Given the description of an element on the screen output the (x, y) to click on. 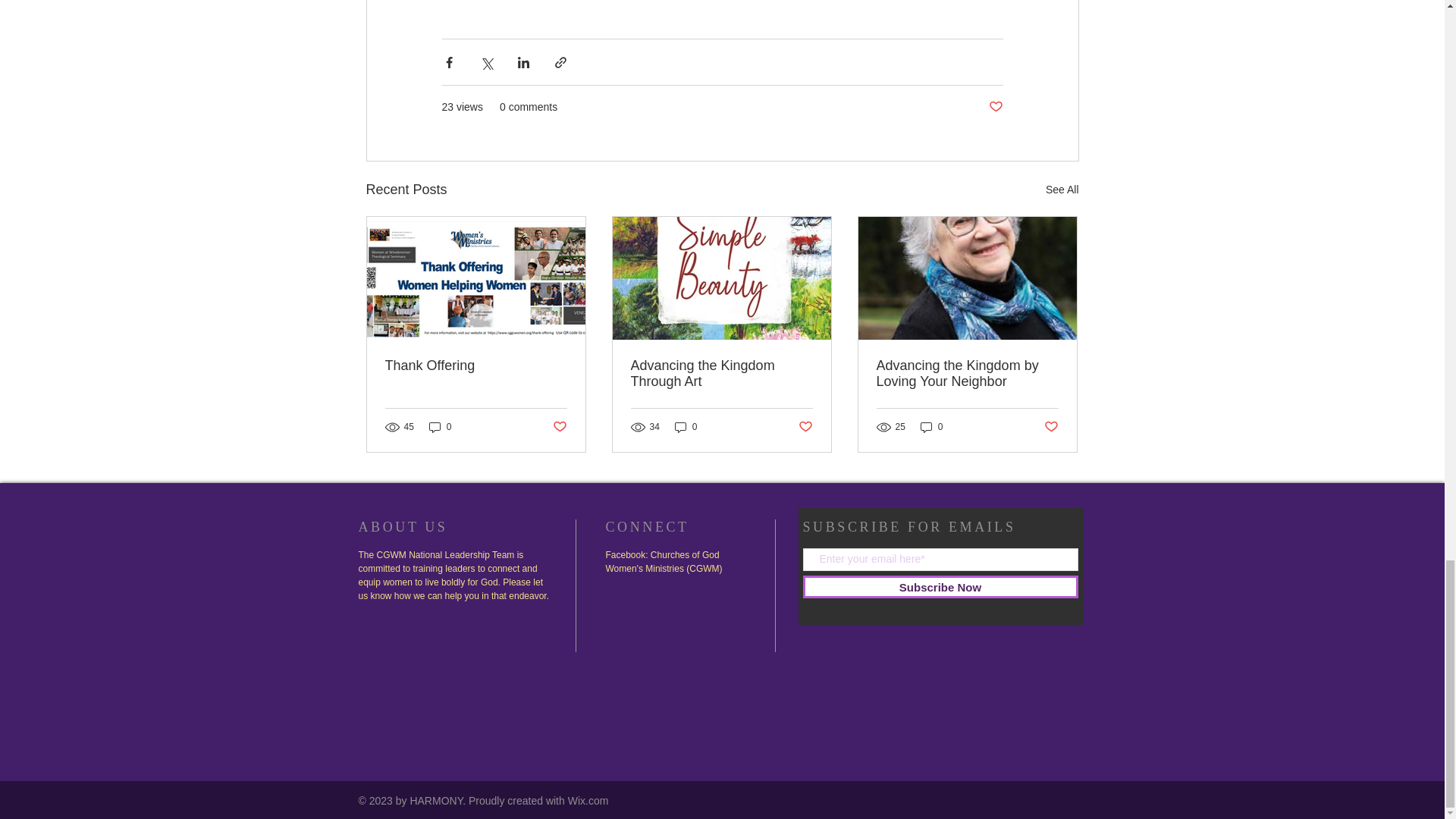
Post not marked as liked (995, 107)
Thank Offering (476, 365)
0 (440, 427)
Post not marked as liked (1050, 426)
Advancing the Kingdom by Loving Your Neighbor (967, 373)
See All (1061, 189)
0 (685, 427)
Post not marked as liked (558, 426)
Advancing the Kingdom Through Art (721, 373)
0 (931, 427)
